Given the description of an element on the screen output the (x, y) to click on. 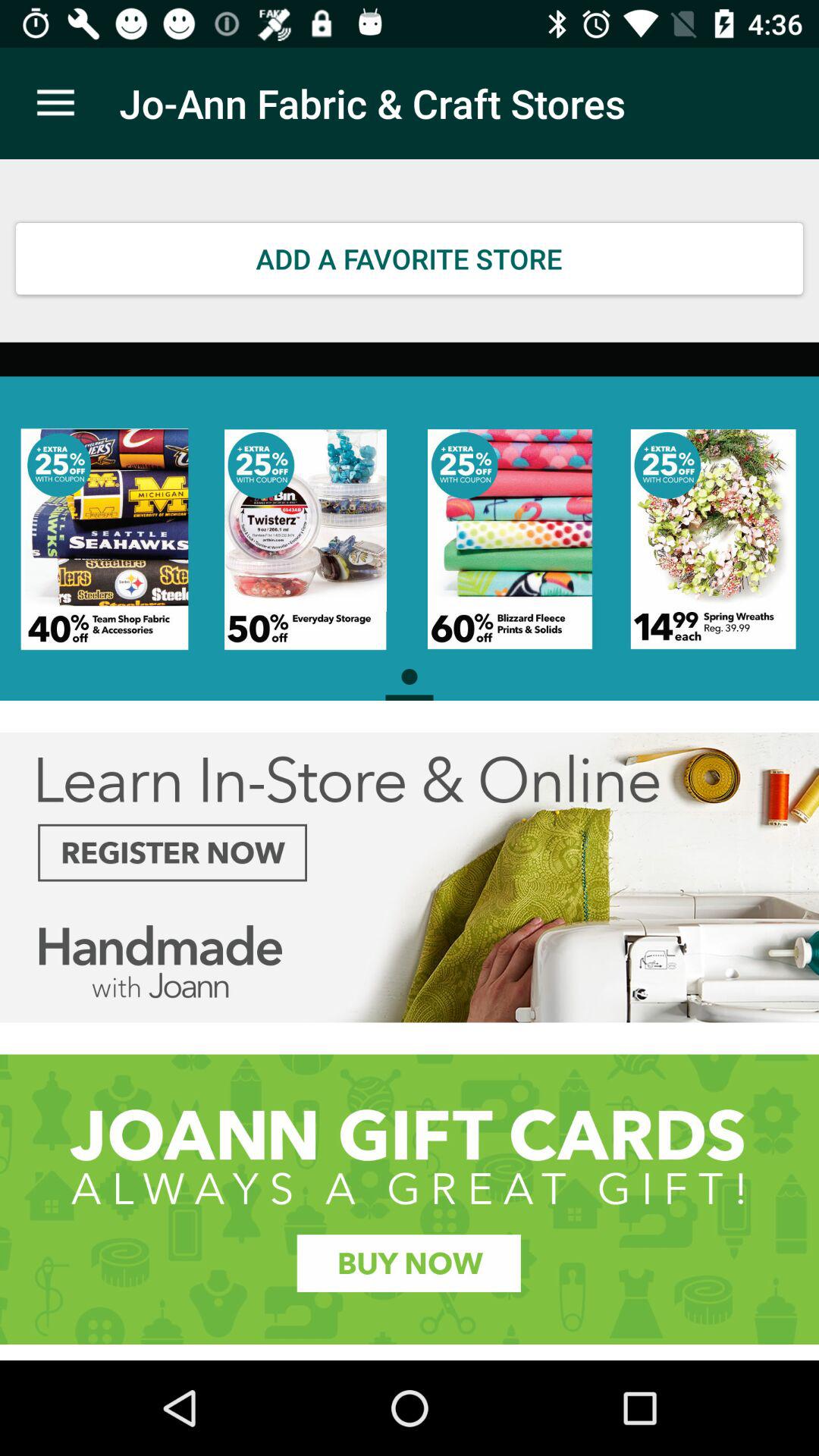
register for account (409, 877)
